Given the description of an element on the screen output the (x, y) to click on. 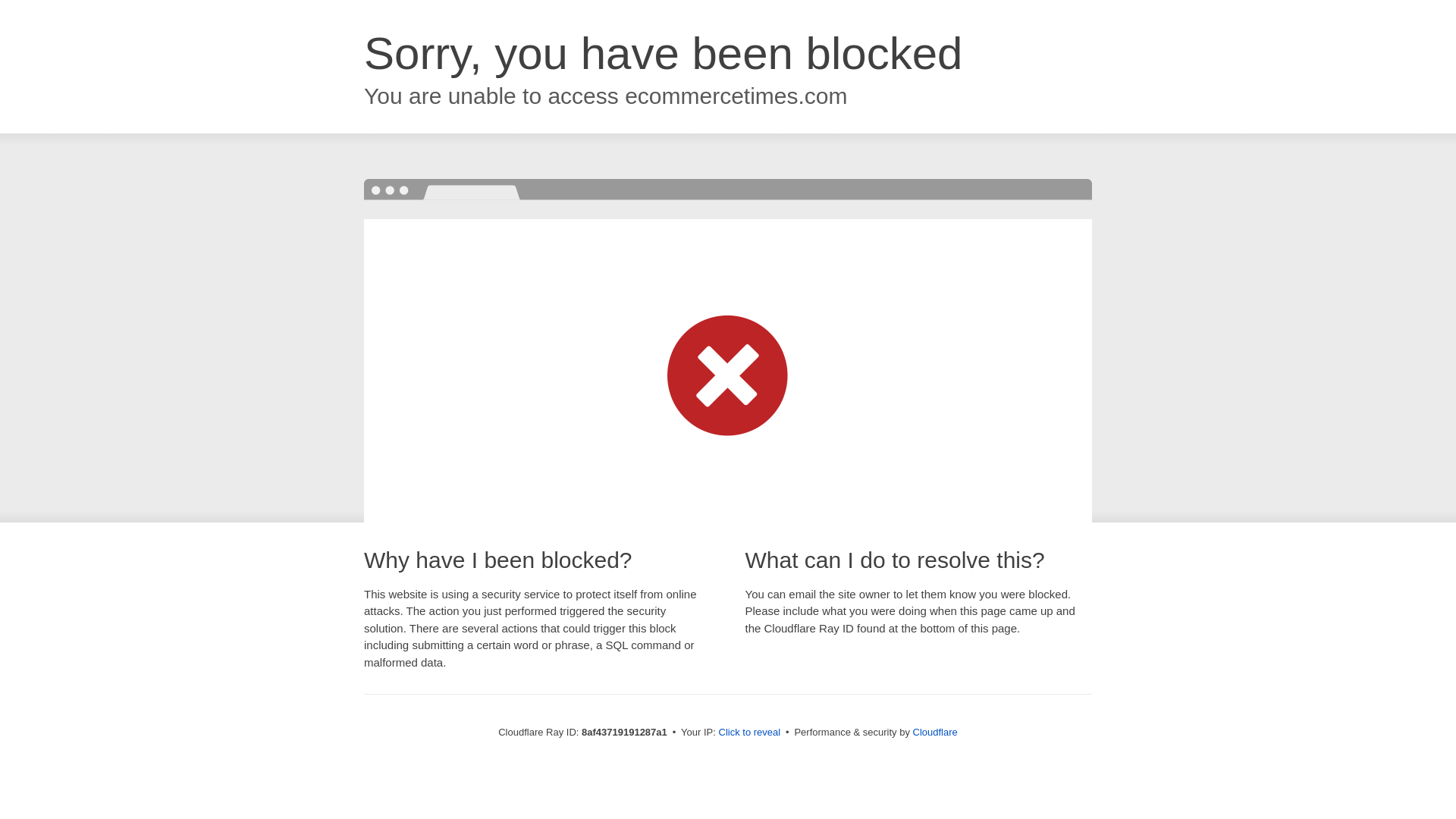
Click to reveal (749, 732)
Cloudflare (935, 731)
